Given the description of an element on the screen output the (x, y) to click on. 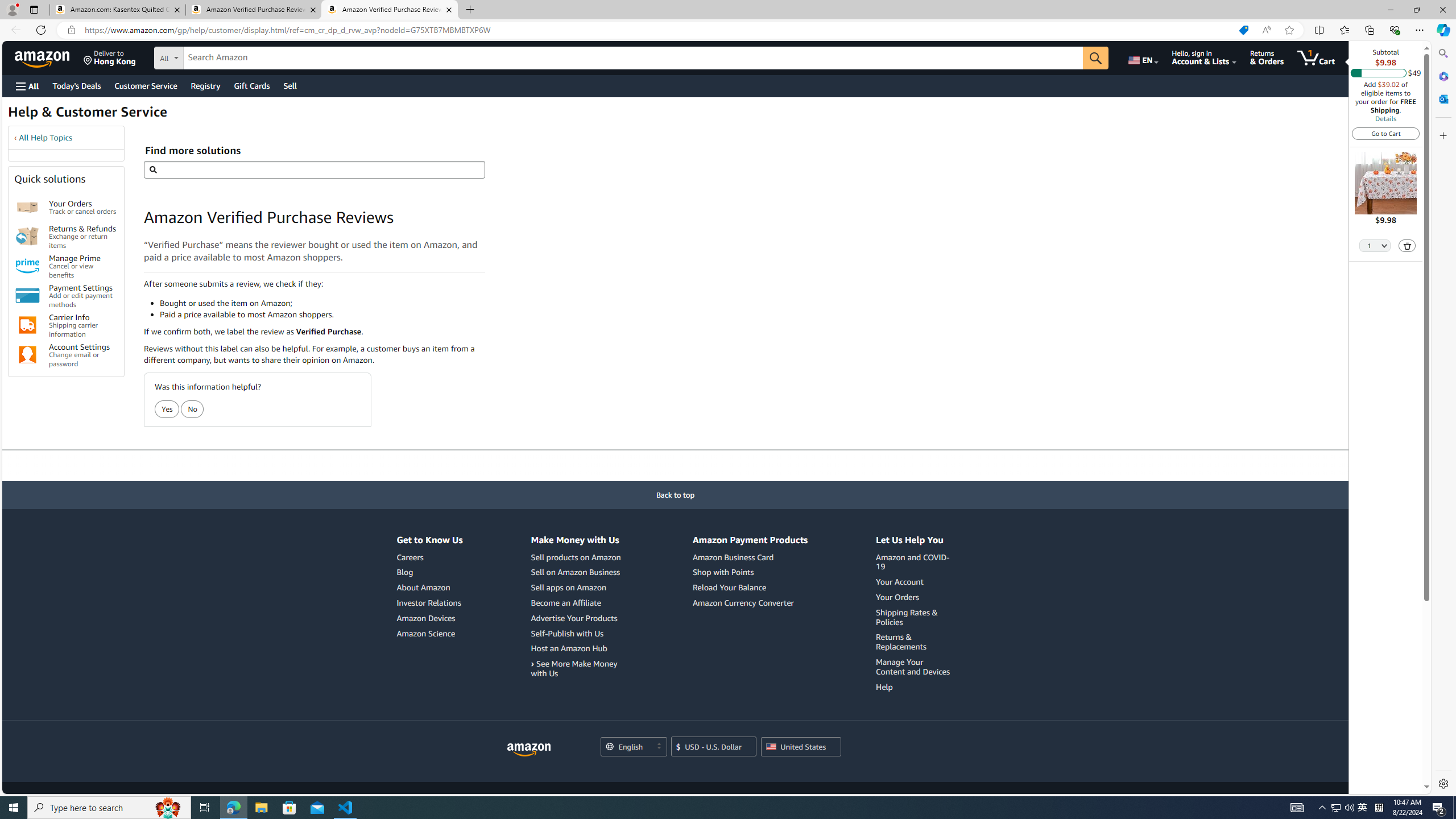
Reload Your Balance (749, 587)
Your Account (899, 581)
Details (1385, 118)
Shipping Rates & Policies (906, 616)
Manage Your Content and Devices (912, 666)
Blog (429, 572)
Deliver to Hong Kong (109, 57)
Your Account (914, 582)
Returns & Replacements (901, 642)
Amazon US Home (528, 749)
Your Orders (914, 596)
Returns & Refunds (27, 236)
Microsoft 365 (1442, 76)
Choose a country/region for shopping. (800, 746)
New Tab (471, 9)
